Given the description of an element on the screen output the (x, y) to click on. 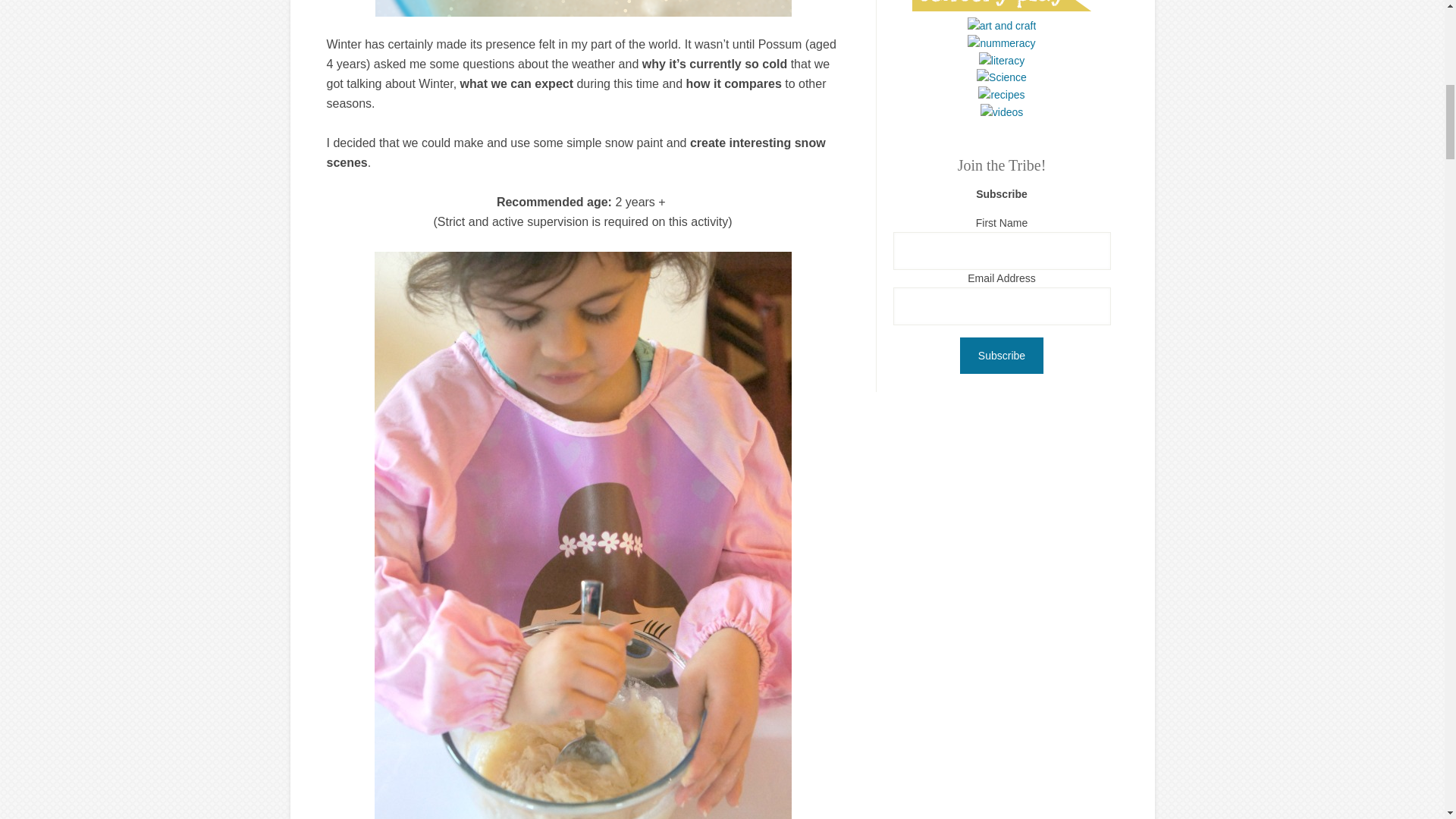
Subscribe (1001, 355)
